Given the description of an element on the screen output the (x, y) to click on. 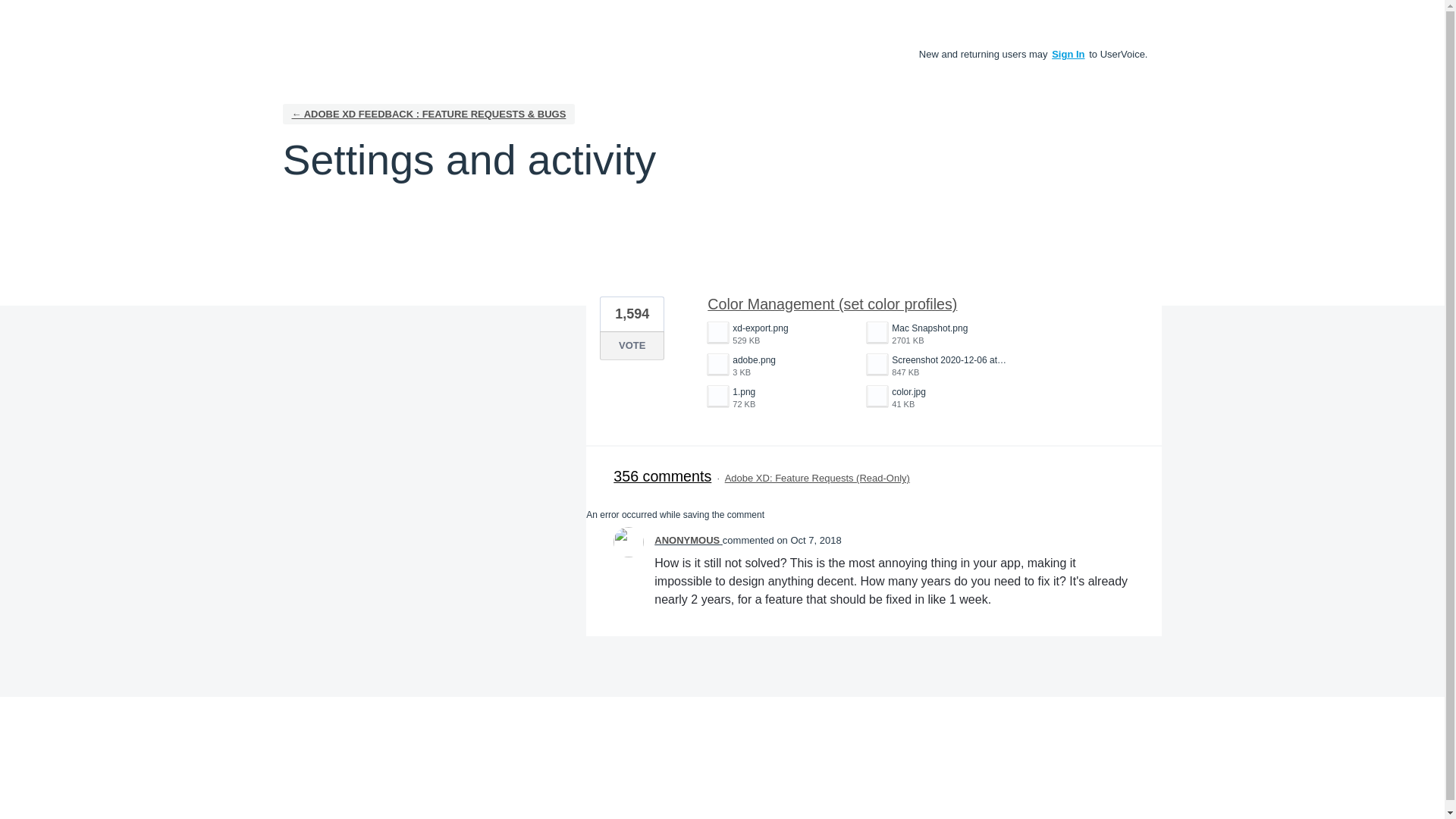
ANONYMOUS (687, 540)
Voting has closed (631, 345)
View xd-export.png (779, 334)
View Screenshot 2020-12-06 at 18.54.jpg (938, 365)
View 1.png (779, 334)
356 comments (938, 365)
VOTE (779, 397)
